Given the description of an element on the screen output the (x, y) to click on. 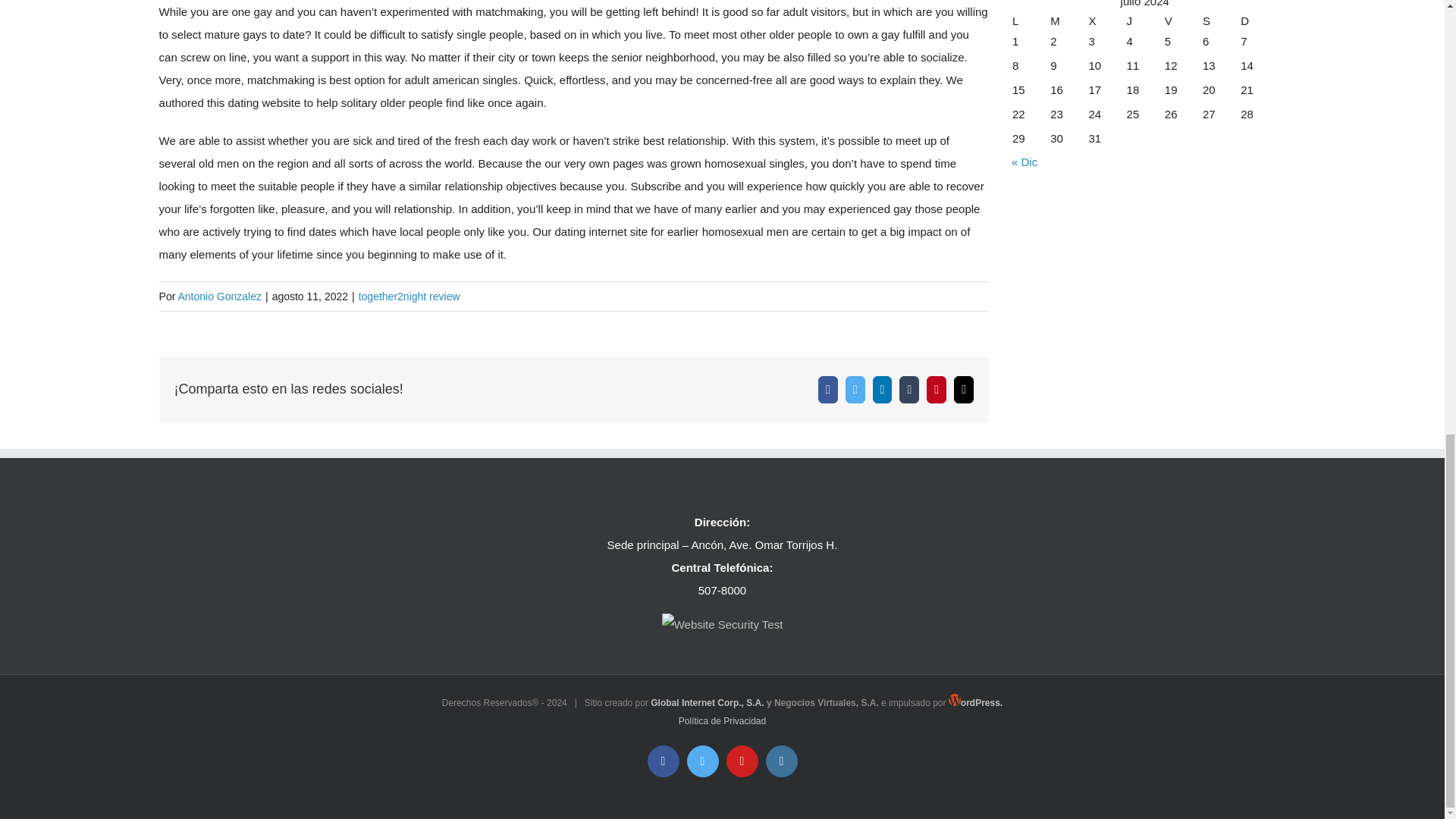
Twitter (854, 389)
Facebook (663, 761)
martes (1068, 21)
Antonio Gonzalez (219, 296)
Tumblr (908, 389)
Instagram (781, 761)
Facebook (828, 389)
Global Internet Corp., S.A. (706, 702)
domingo (1259, 21)
LinkedIn (882, 389)
YouTube (742, 761)
Pinterest (936, 389)
ordPress. (976, 702)
Twitter (703, 761)
Entradas de Antonio Gonzalez (219, 296)
